Given the description of an element on the screen output the (x, y) to click on. 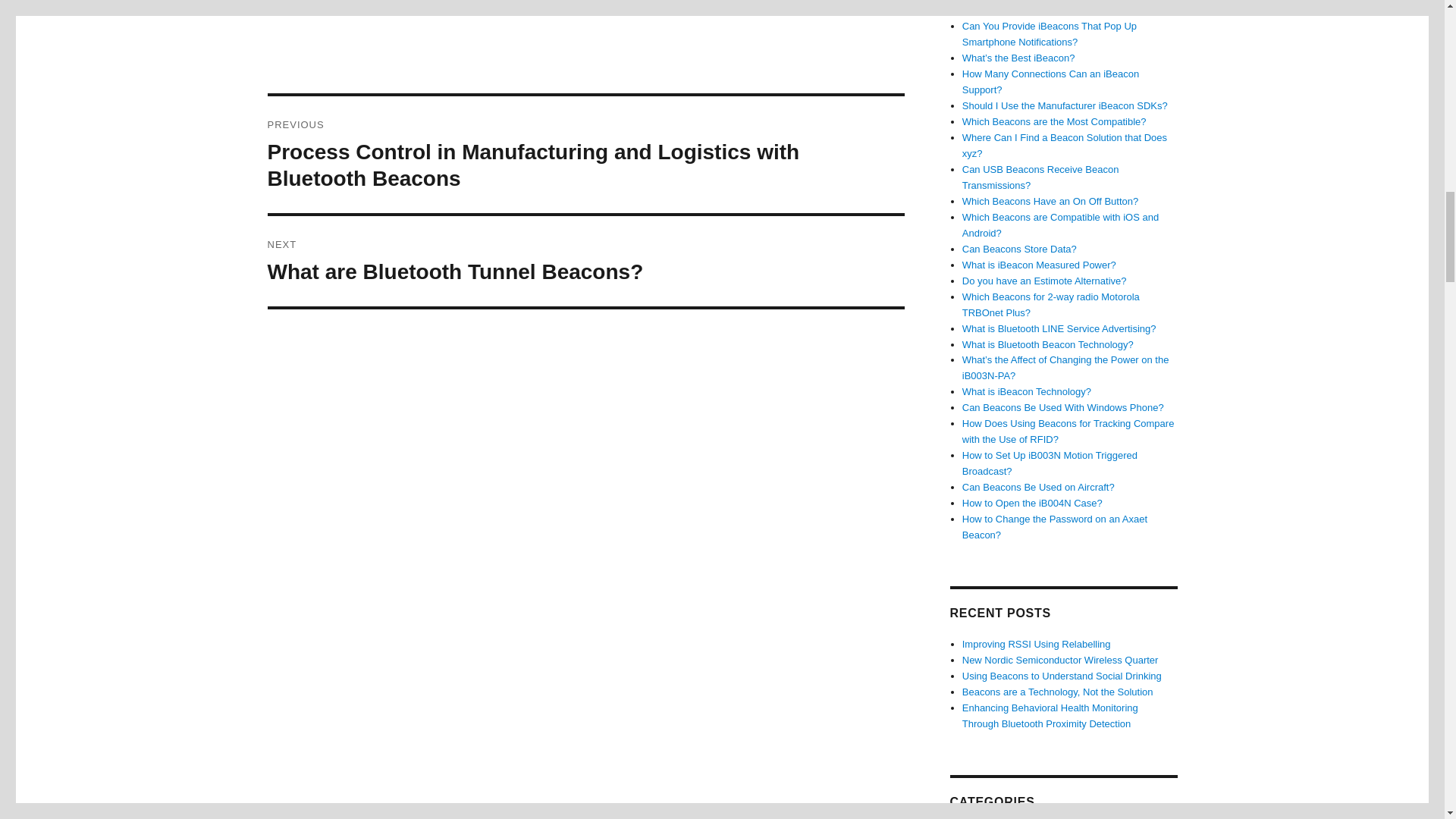
System for Searching Factory Stock (545, 2)
System for Searching Factory Stock (545, 2)
